Given the description of an element on the screen output the (x, y) to click on. 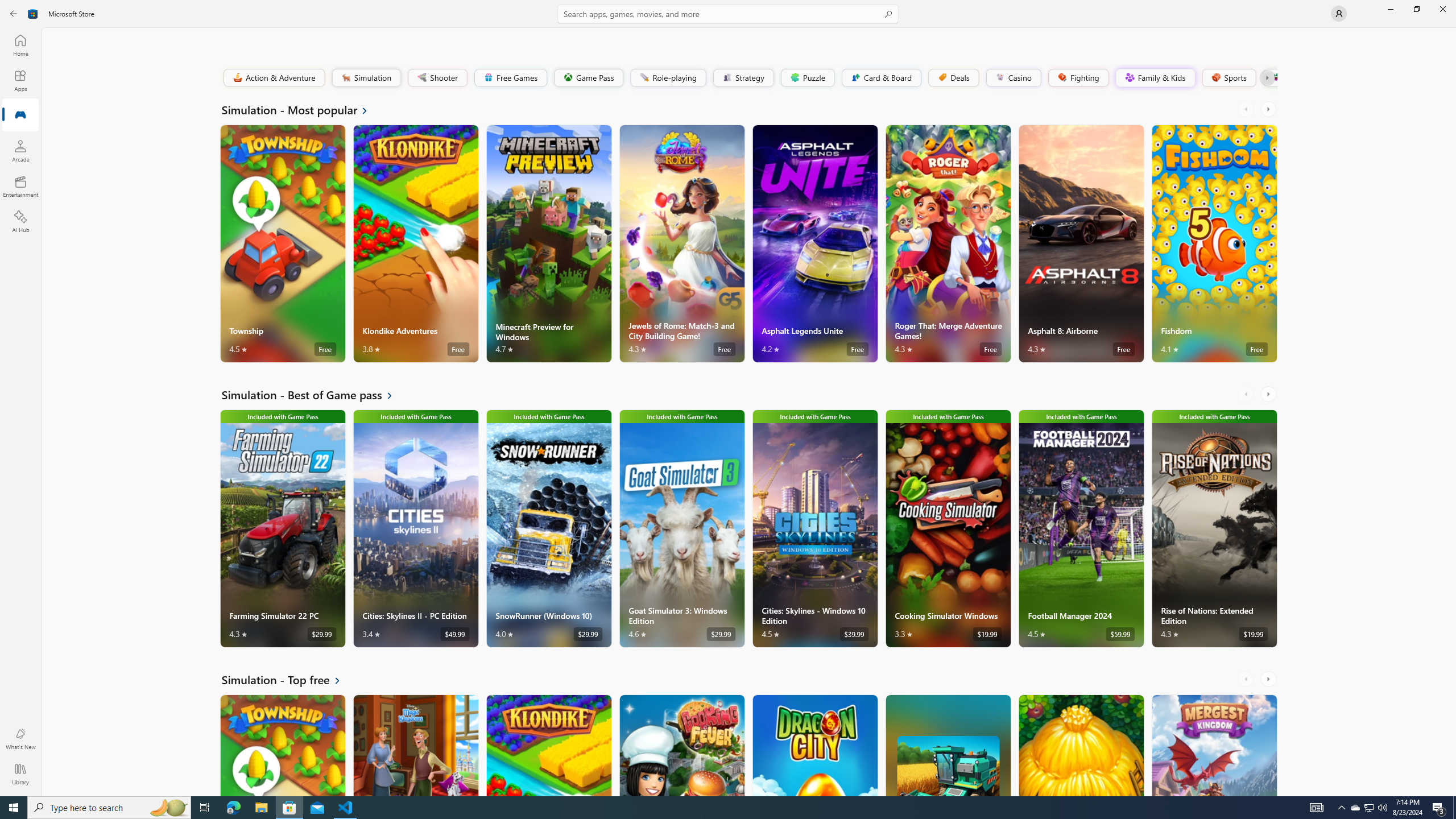
Game Pass (588, 77)
Fishdom. Average rating of 4.1 out of five stars. Free   (1213, 243)
Home (20, 45)
Card & Board (880, 77)
Township. Average rating of 4.5 out of five stars. Free   (282, 745)
Back (13, 13)
Gaming (20, 115)
Close Microsoft Store (1442, 9)
Arcade (20, 150)
Minimize Microsoft Store (1390, 9)
Casino (1013, 77)
Action & Adventure (273, 77)
